Given the description of an element on the screen output the (x, y) to click on. 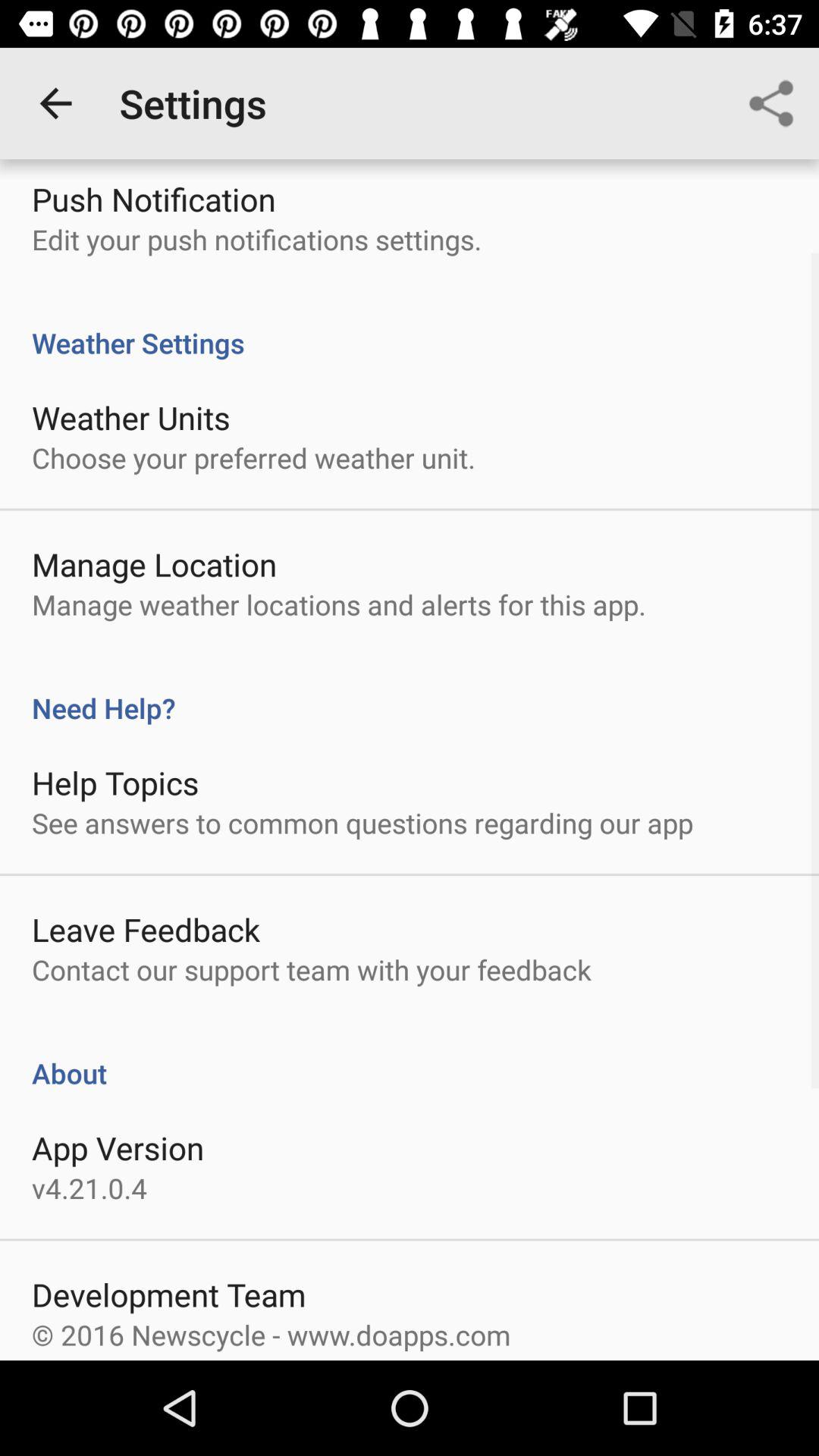
select the icon above the weather settings (771, 103)
